Given the description of an element on the screen output the (x, y) to click on. 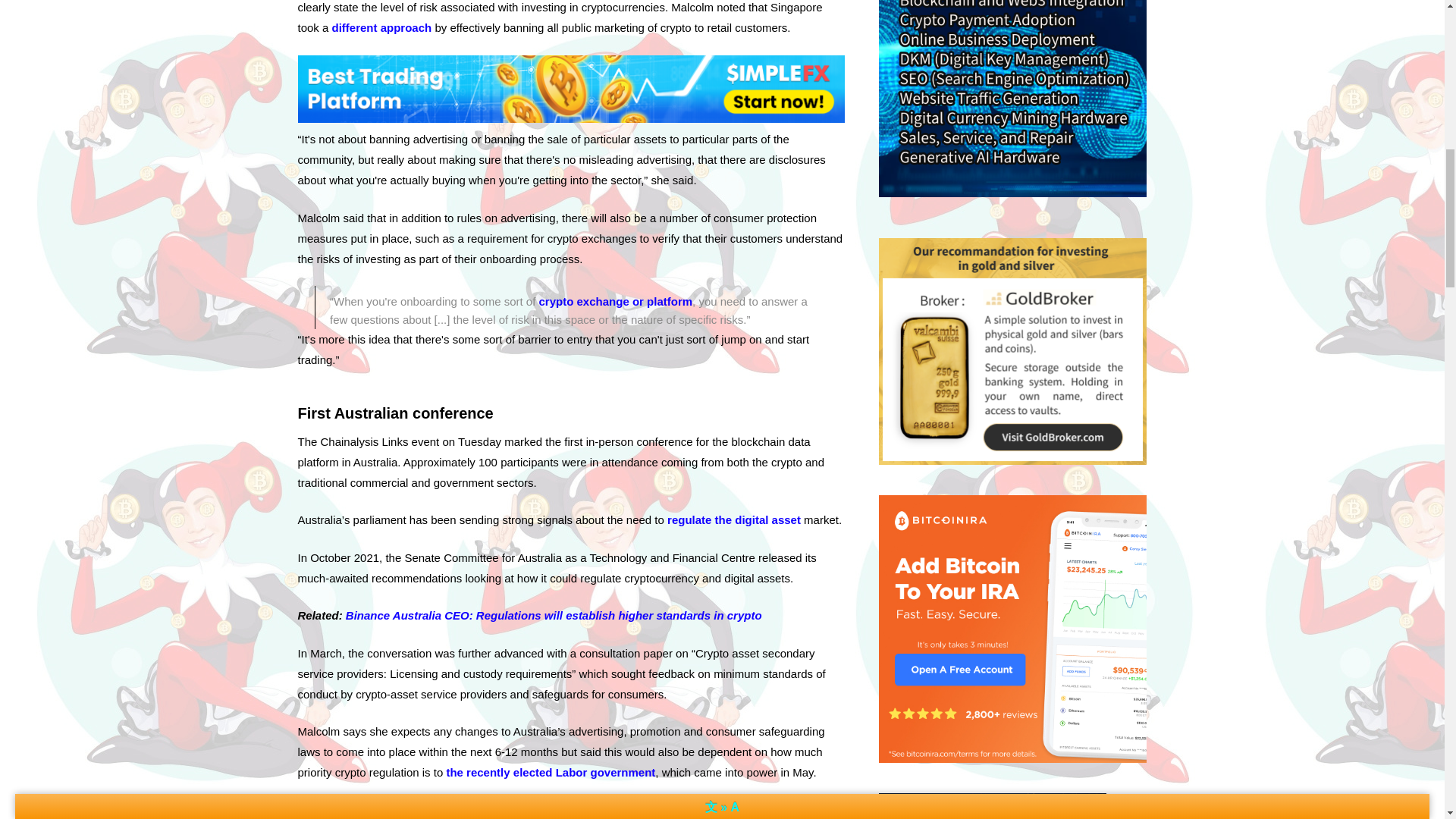
regulate the digital asset (733, 519)
the recently elected Labor government (550, 771)
crypto exchange or platform (615, 300)
different approach (381, 27)
